Given the description of an element on the screen output the (x, y) to click on. 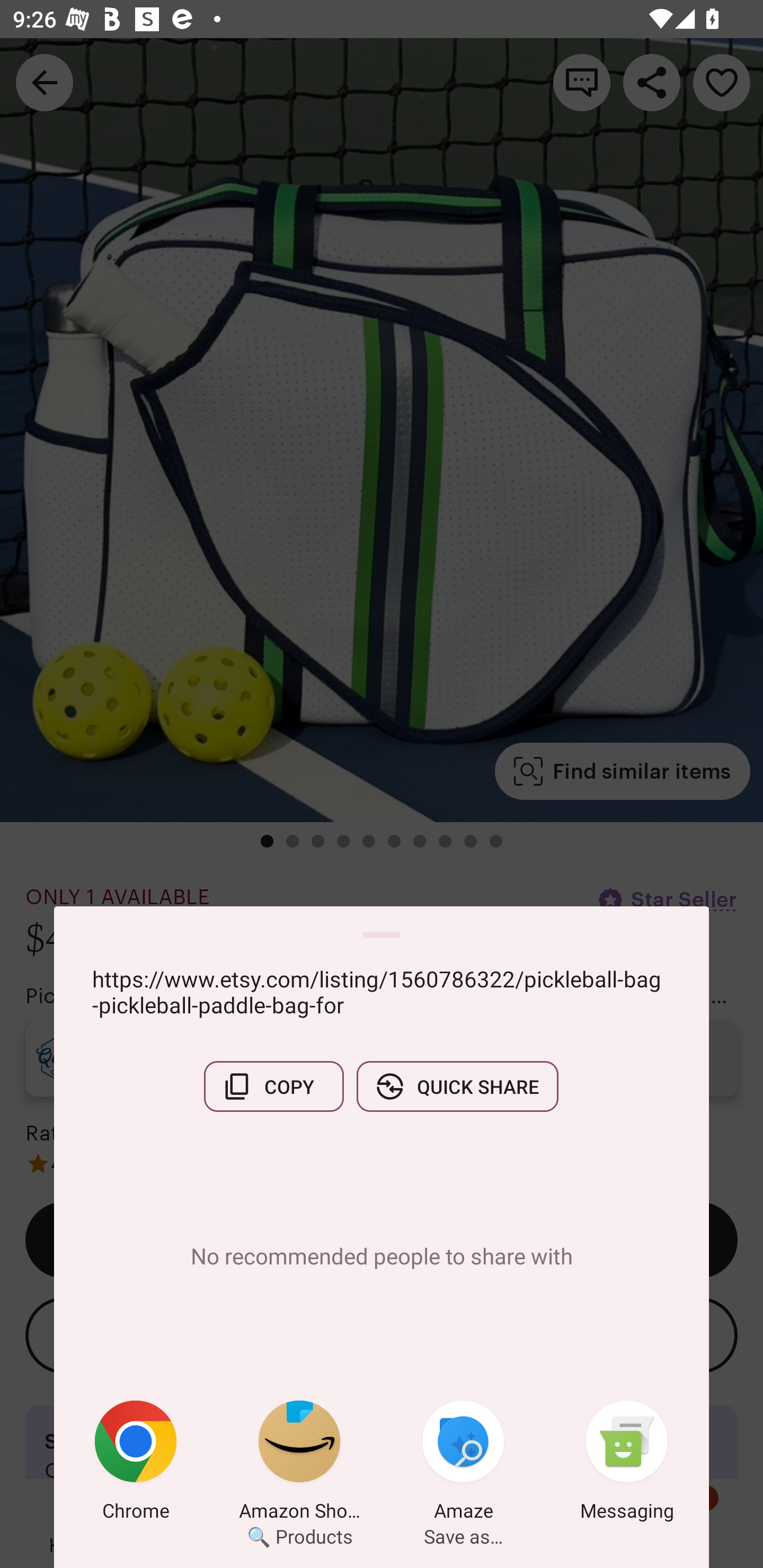
COPY (273, 1086)
QUICK SHARE (457, 1086)
Chrome (135, 1463)
Amazon Shopping 🔍 Products (299, 1463)
Amaze Save as… (463, 1463)
Messaging (626, 1463)
